Given the description of an element on the screen output the (x, y) to click on. 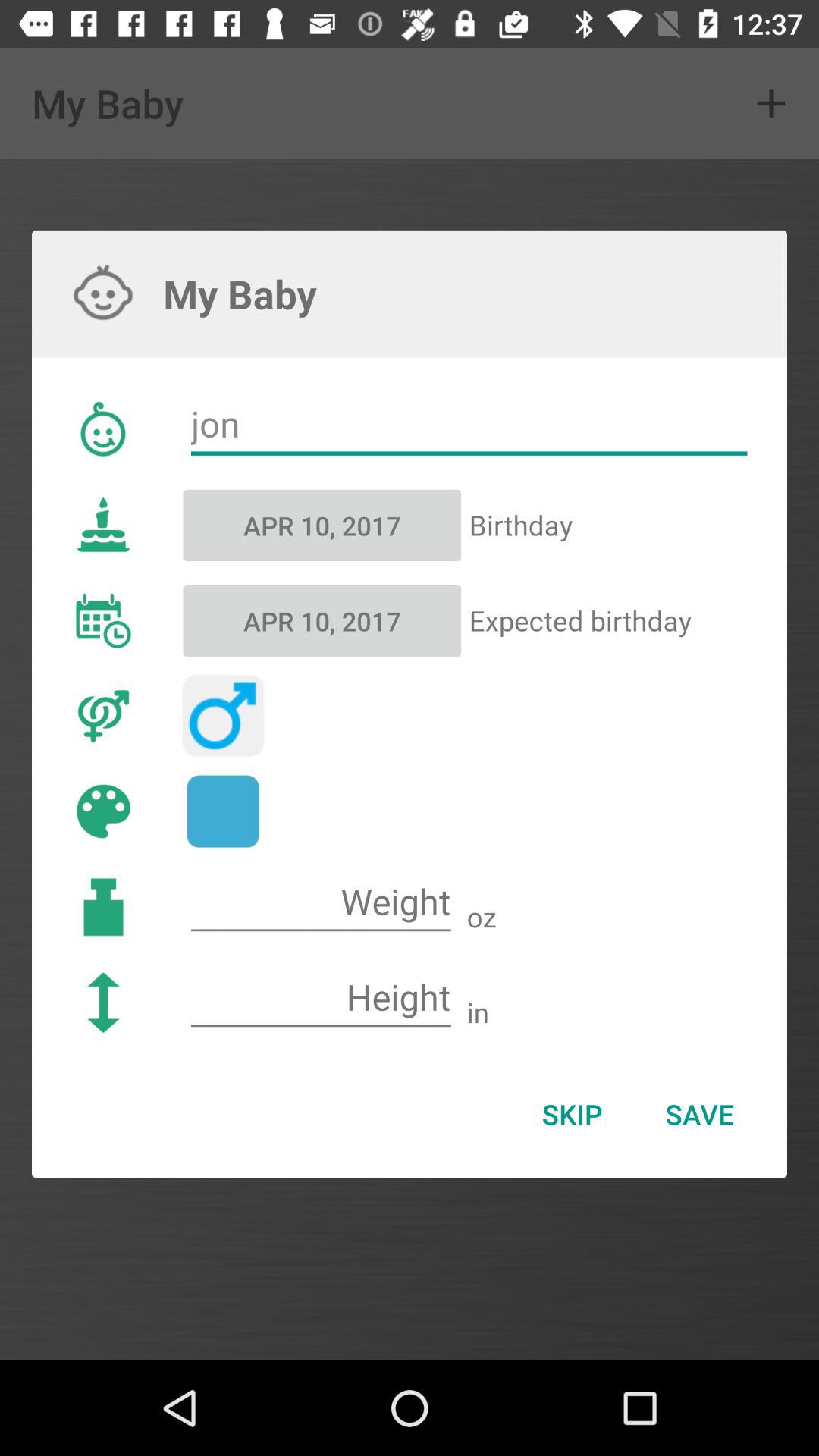
enter baby 's weight (320, 902)
